Given the description of an element on the screen output the (x, y) to click on. 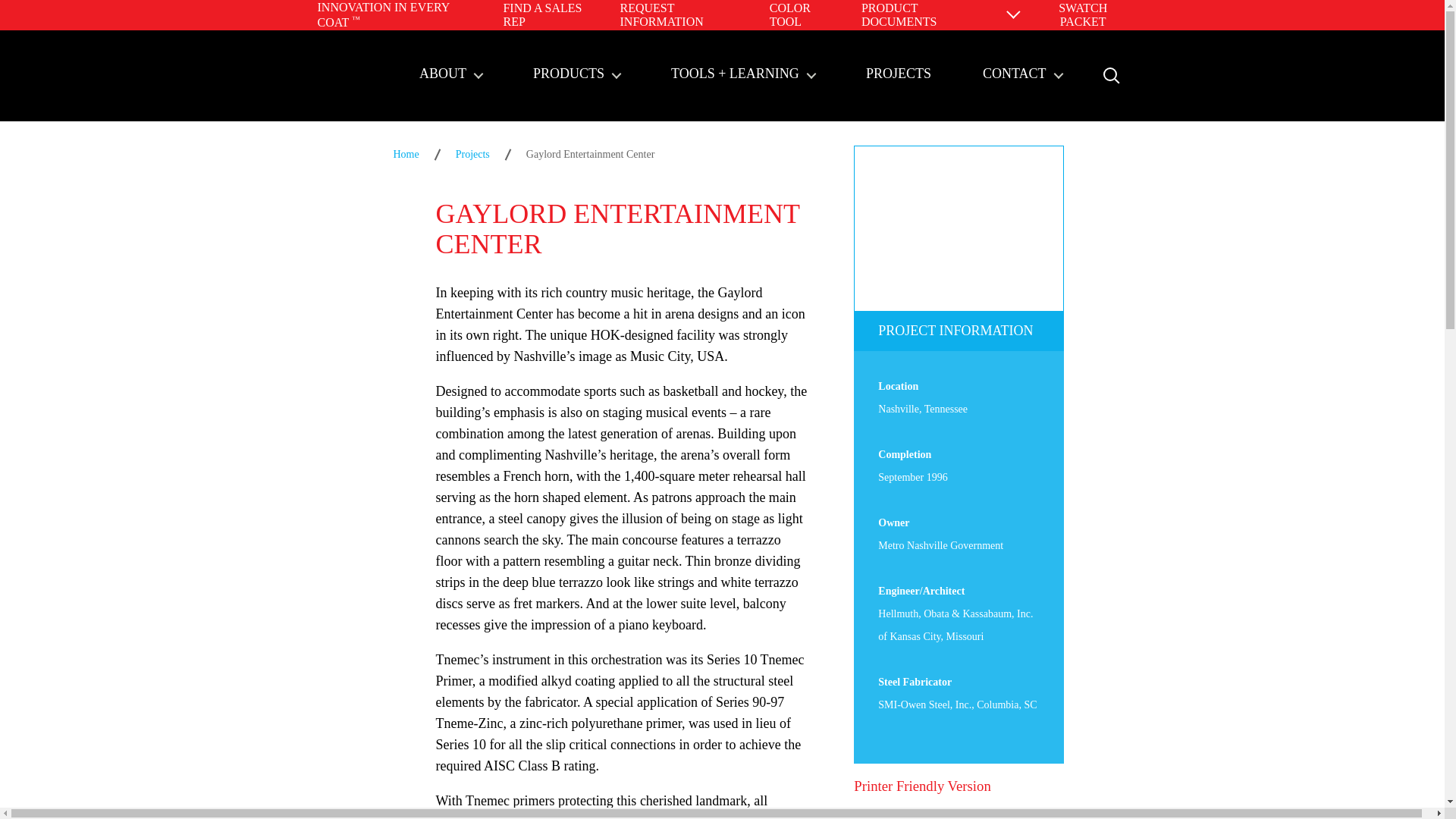
REQUEST INFORMATION (661, 14)
FIND A SALES REP (541, 14)
COLOR TOOL (790, 14)
PRODUCT DOCUMENTS (899, 14)
SWATCH PACKET (1074, 14)
PRODUCTS (576, 75)
